Given the description of an element on the screen output the (x, y) to click on. 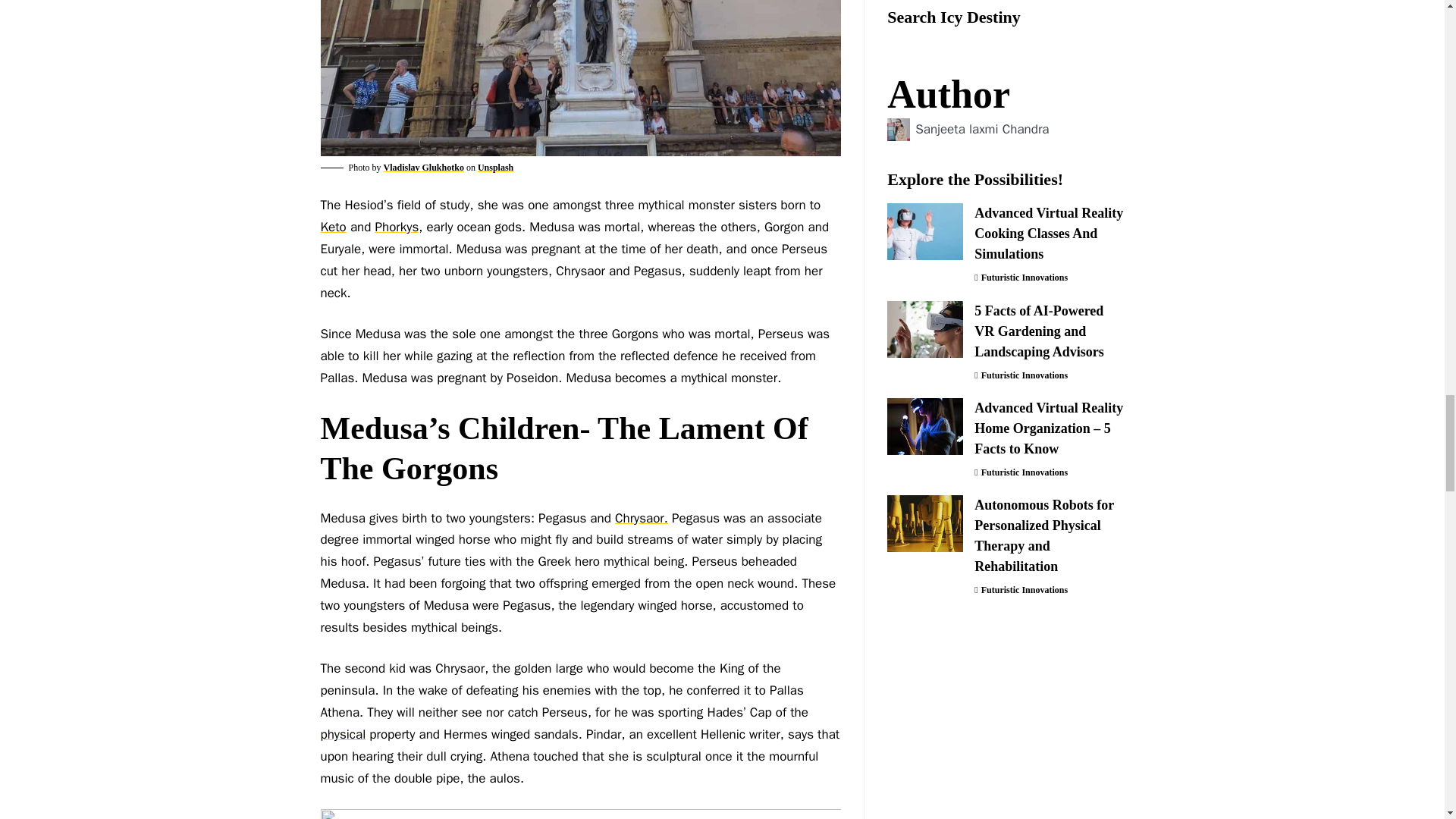
Keto (333, 227)
Chrysaor (641, 518)
Phorkys (398, 227)
